Given the description of an element on the screen output the (x, y) to click on. 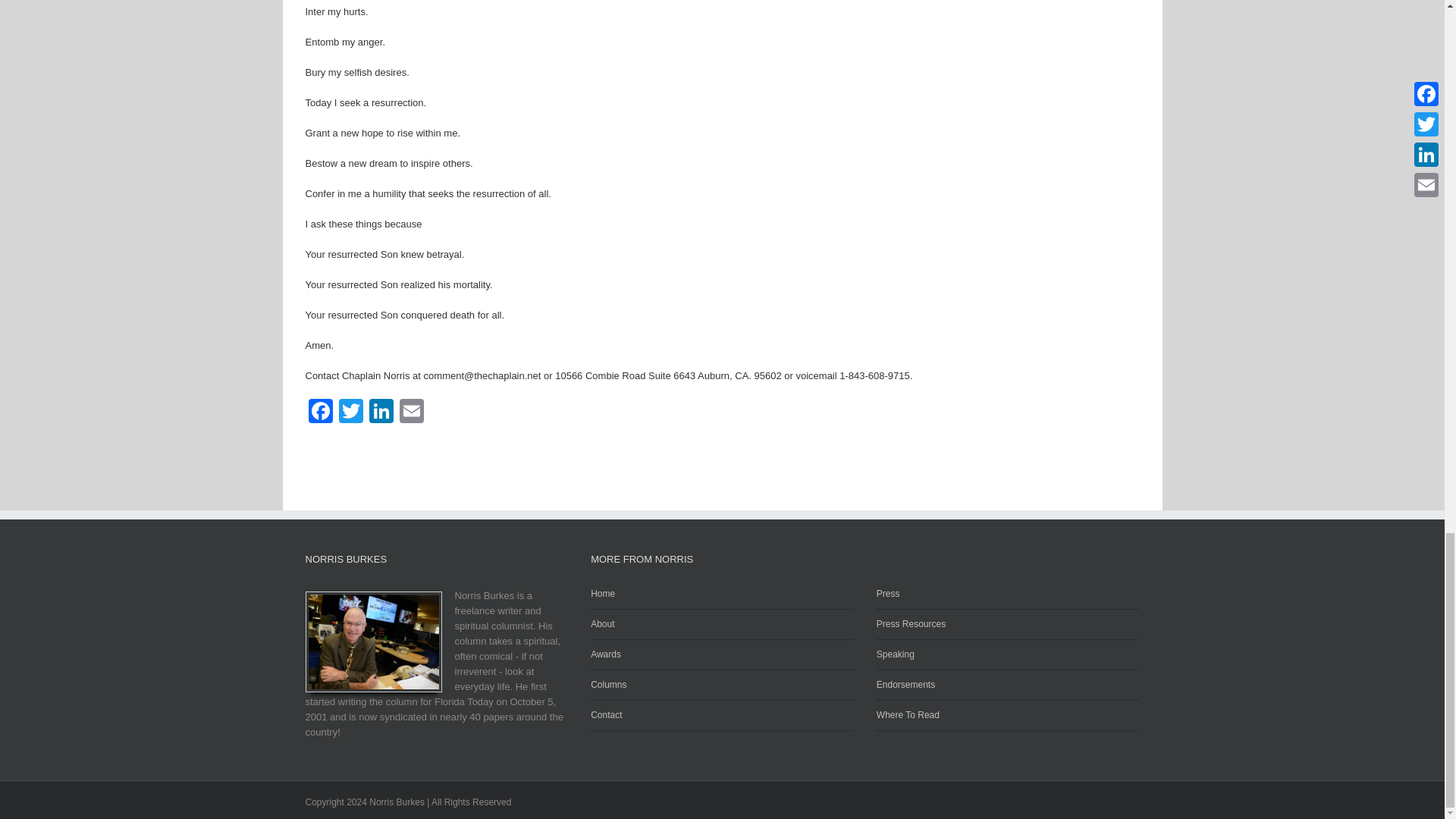
LinkedIn (380, 412)
Facebook (319, 412)
Email (411, 412)
Twitter (349, 412)
Twitter (349, 412)
Facebook (319, 412)
